Given the description of an element on the screen output the (x, y) to click on. 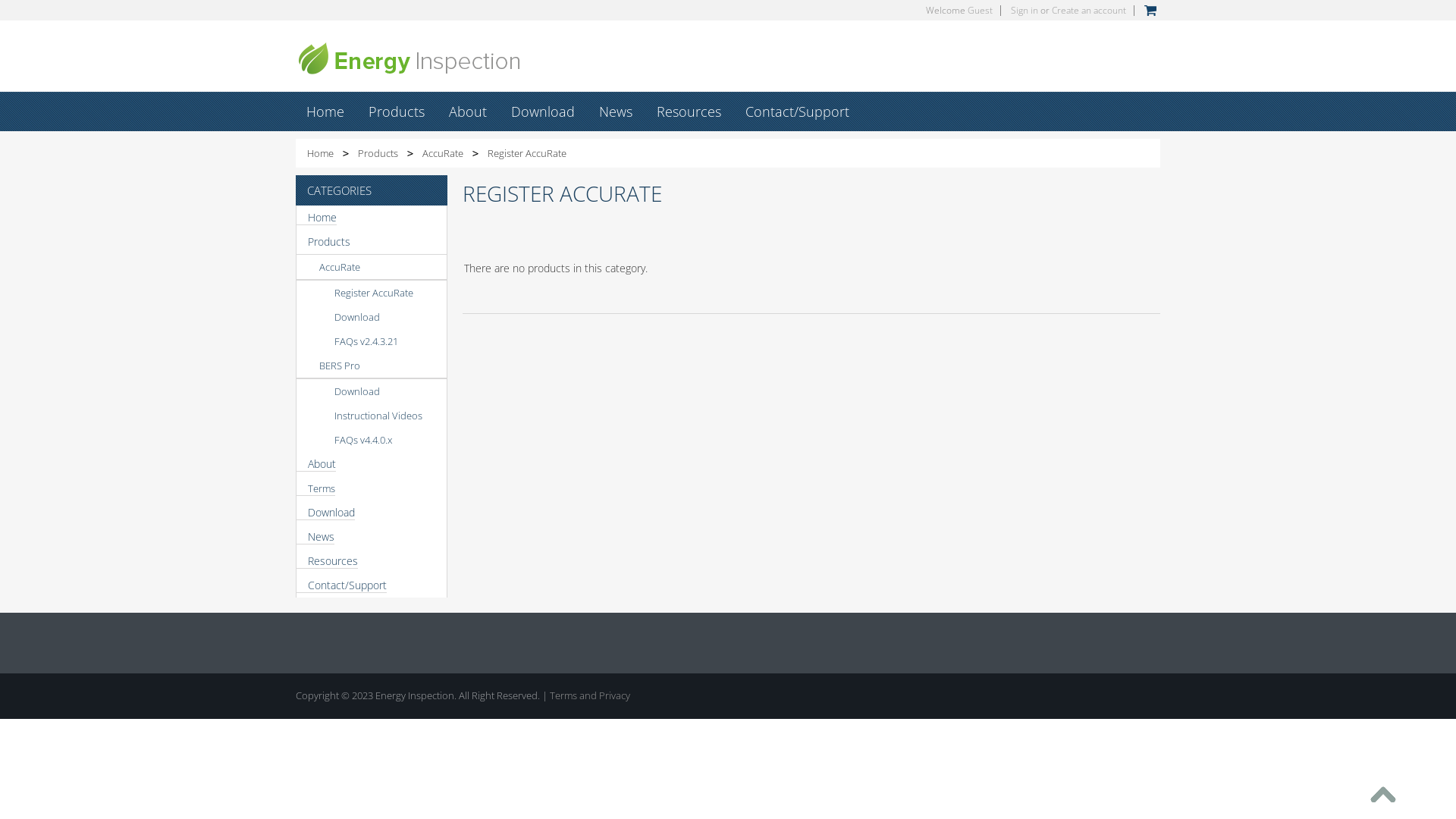
About Element type: text (315, 463)
Register AccuRate Element type: text (371, 292)
News Element type: text (615, 111)
Home Element type: text (316, 217)
AccuRate Element type: text (371, 266)
View Cart Element type: hover (1150, 10)
News Element type: text (315, 536)
Instructional Videos Element type: text (371, 415)
Resources Element type: text (688, 111)
Download Element type: text (325, 512)
Home Element type: text (324, 111)
Products Element type: text (371, 241)
Resources Element type: text (326, 560)
Terms Element type: text (315, 488)
Guest Element type: text (979, 9)
BERS Pro Element type: text (371, 365)
Download Element type: text (542, 111)
FAQs v2.4.3.21 Element type: text (371, 341)
AccuRate Element type: text (450, 153)
Products Element type: text (396, 111)
FAQs v4.4.0.x Element type: text (371, 439)
Contact/Support Element type: text (796, 111)
Contact/Support Element type: text (341, 585)
Download Element type: text (371, 391)
  Element type: text (1384, 794)
Terms and Privacy Element type: text (589, 695)
Products Element type: text (385, 153)
Download Element type: text (371, 316)
Home Element type: text (327, 153)
Sign in Element type: text (1024, 9)
About Element type: text (467, 111)
Create an account Element type: text (1088, 9)
